Given the description of an element on the screen output the (x, y) to click on. 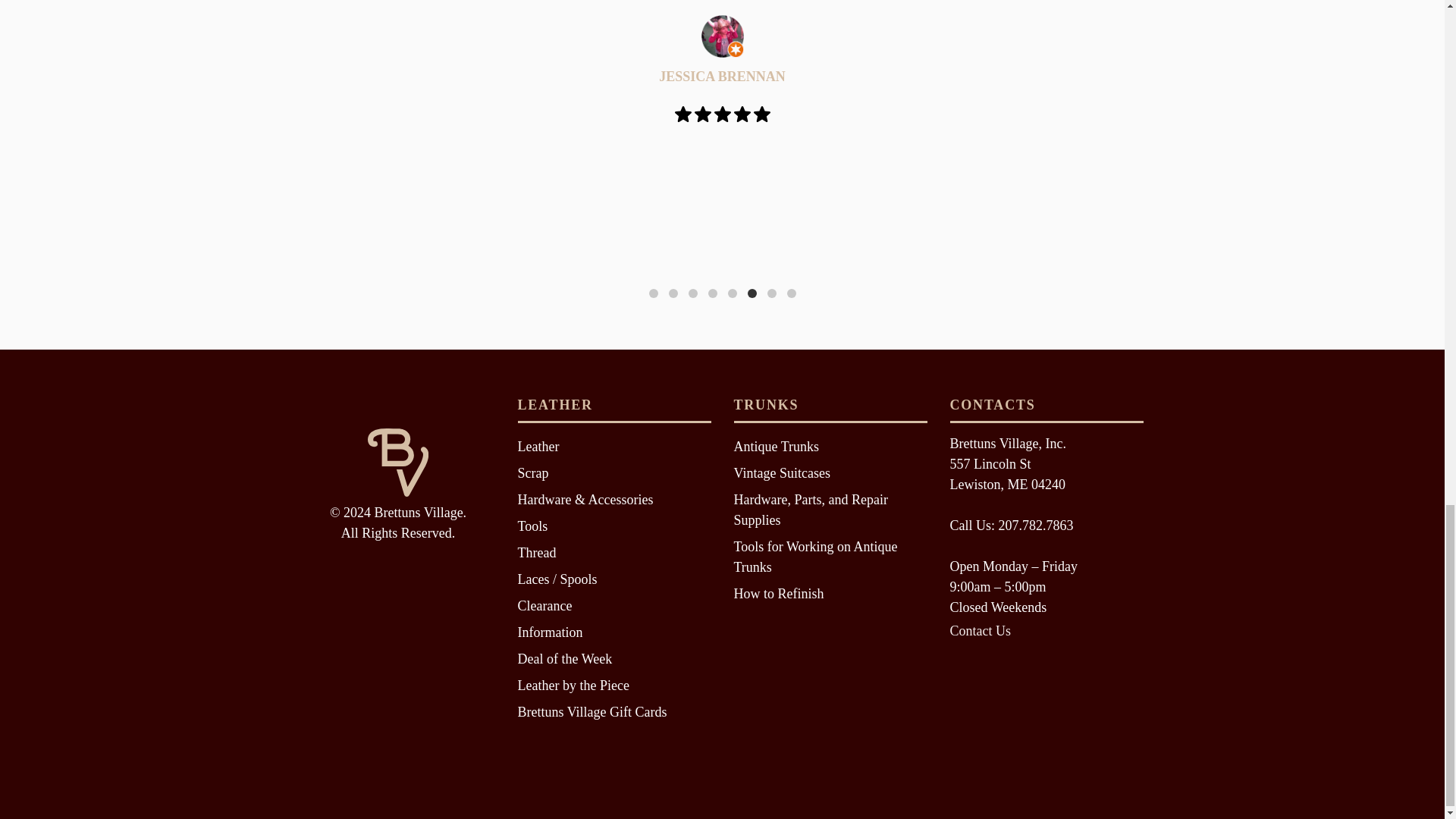
jessica brennan (721, 36)
